Given the description of an element on the screen output the (x, y) to click on. 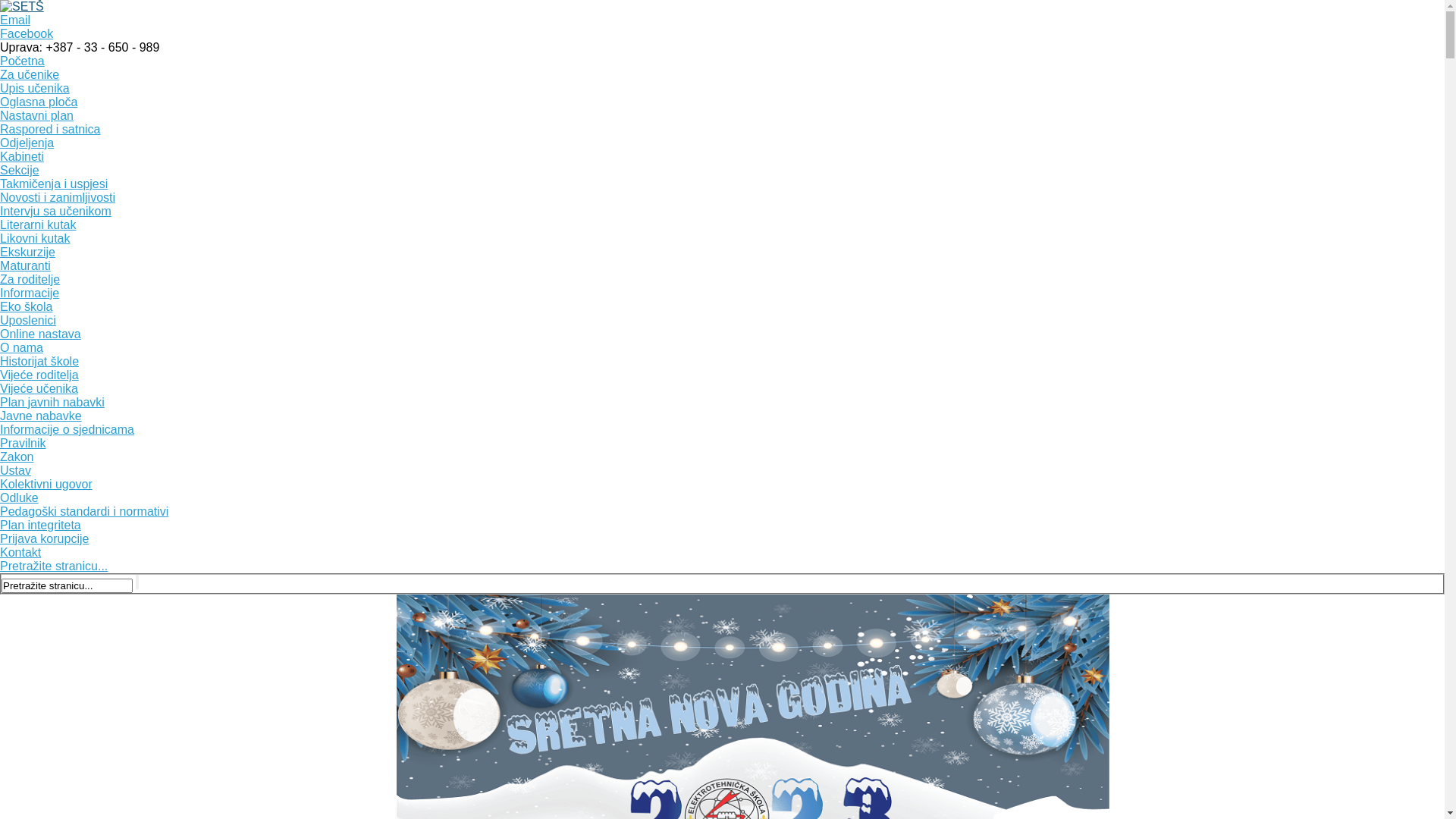
Likovni kutak Element type: text (35, 238)
Uposlenici Element type: text (28, 319)
Raspored i satnica Element type: text (50, 128)
Ustav Element type: text (15, 470)
Javne nabavke Element type: text (40, 415)
Za roditelje Element type: text (29, 279)
Plan javnih nabavki Element type: text (52, 401)
Literarni kutak Element type: text (38, 224)
Online nastava Element type: text (40, 333)
Prijava korupcije Element type: text (44, 538)
Informacije Element type: text (29, 292)
Pravilnik Element type: text (22, 442)
Kolektivni ugovor Element type: text (46, 483)
Odluke Element type: text (19, 497)
Kontakt Element type: text (20, 552)
Facebook Element type: text (26, 33)
Odjeljenja Element type: text (26, 142)
Ekskurzije Element type: text (27, 251)
Kabineti Element type: text (21, 156)
O nama Element type: text (21, 347)
Novosti i zanimljivosti Element type: text (57, 197)
Zakon Element type: text (16, 456)
Maturanti Element type: text (25, 265)
Email Element type: text (15, 19)
Plan integriteta Element type: text (40, 524)
Sekcije Element type: text (19, 169)
Nastavni plan Element type: text (36, 115)
Informacije o sjednicama Element type: text (67, 429)
